Given the description of an element on the screen output the (x, y) to click on. 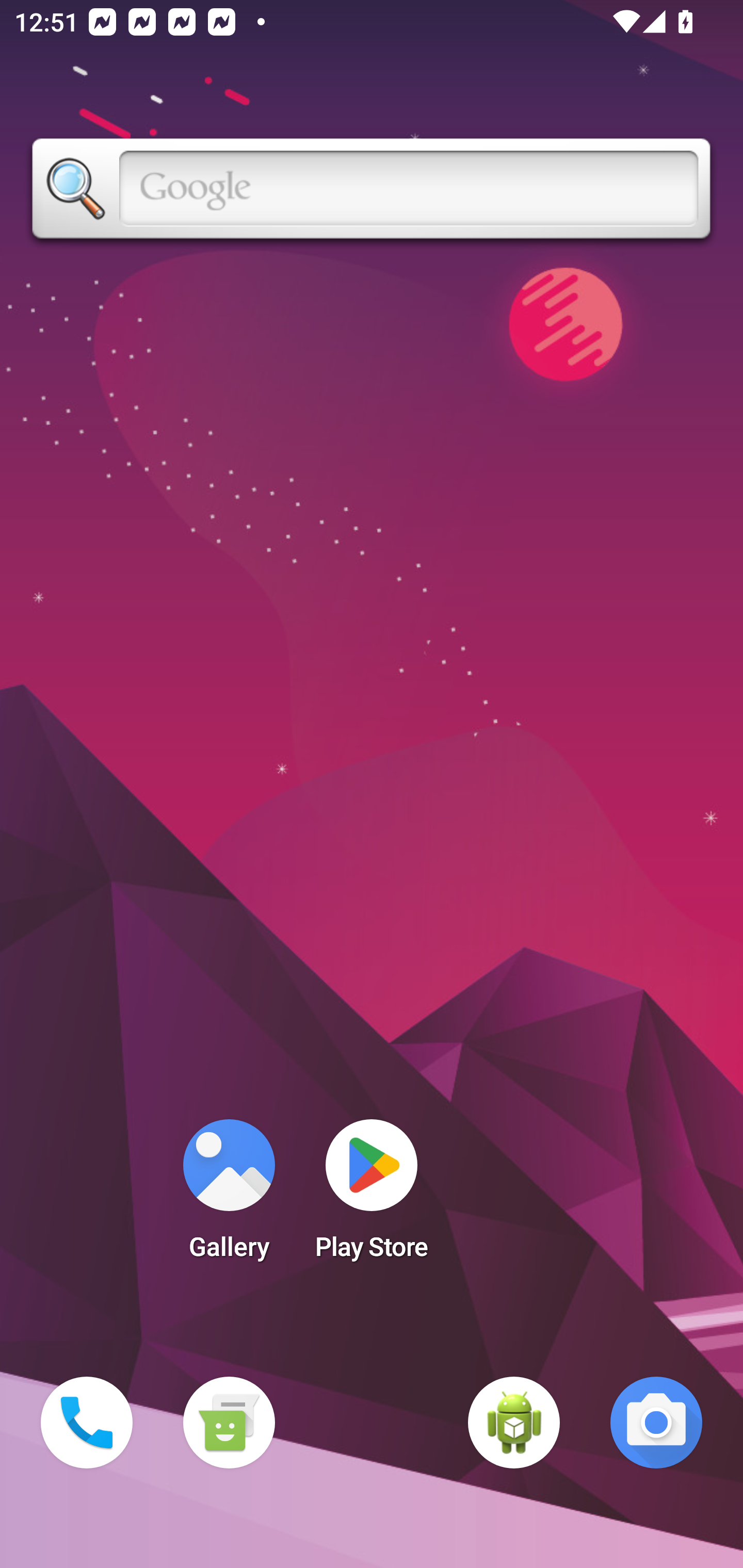
Gallery (228, 1195)
Play Store (371, 1195)
Phone (86, 1422)
Messaging (228, 1422)
WebView Browser Tester (513, 1422)
Camera (656, 1422)
